Given the description of an element on the screen output the (x, y) to click on. 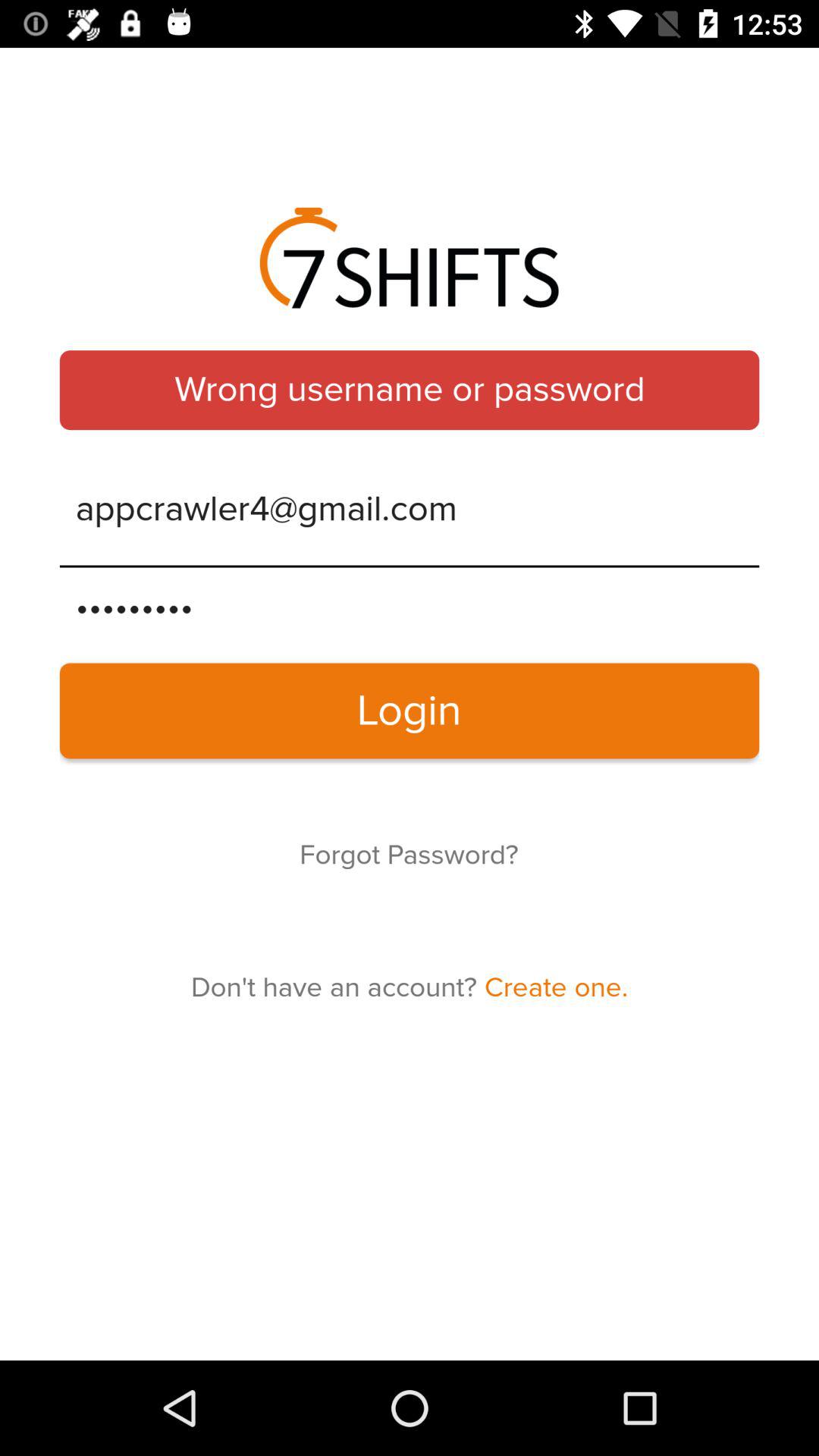
select appcrawler4@gmail.com icon (409, 509)
